Given the description of an element on the screen output the (x, y) to click on. 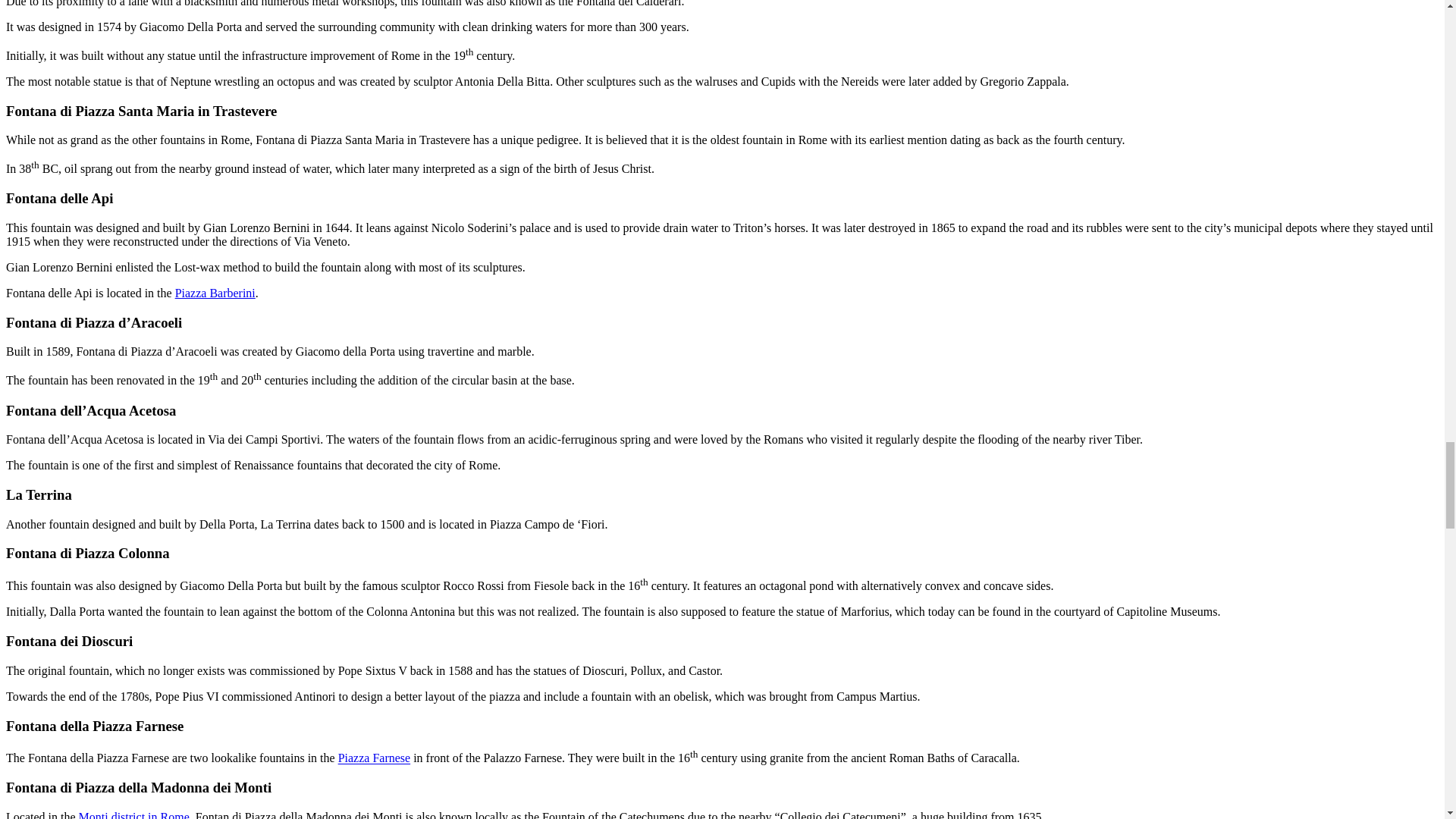
Piazza Farnese (373, 758)
Piazza Barberini (215, 292)
Monti district in Rome (132, 814)
